Given the description of an element on the screen output the (x, y) to click on. 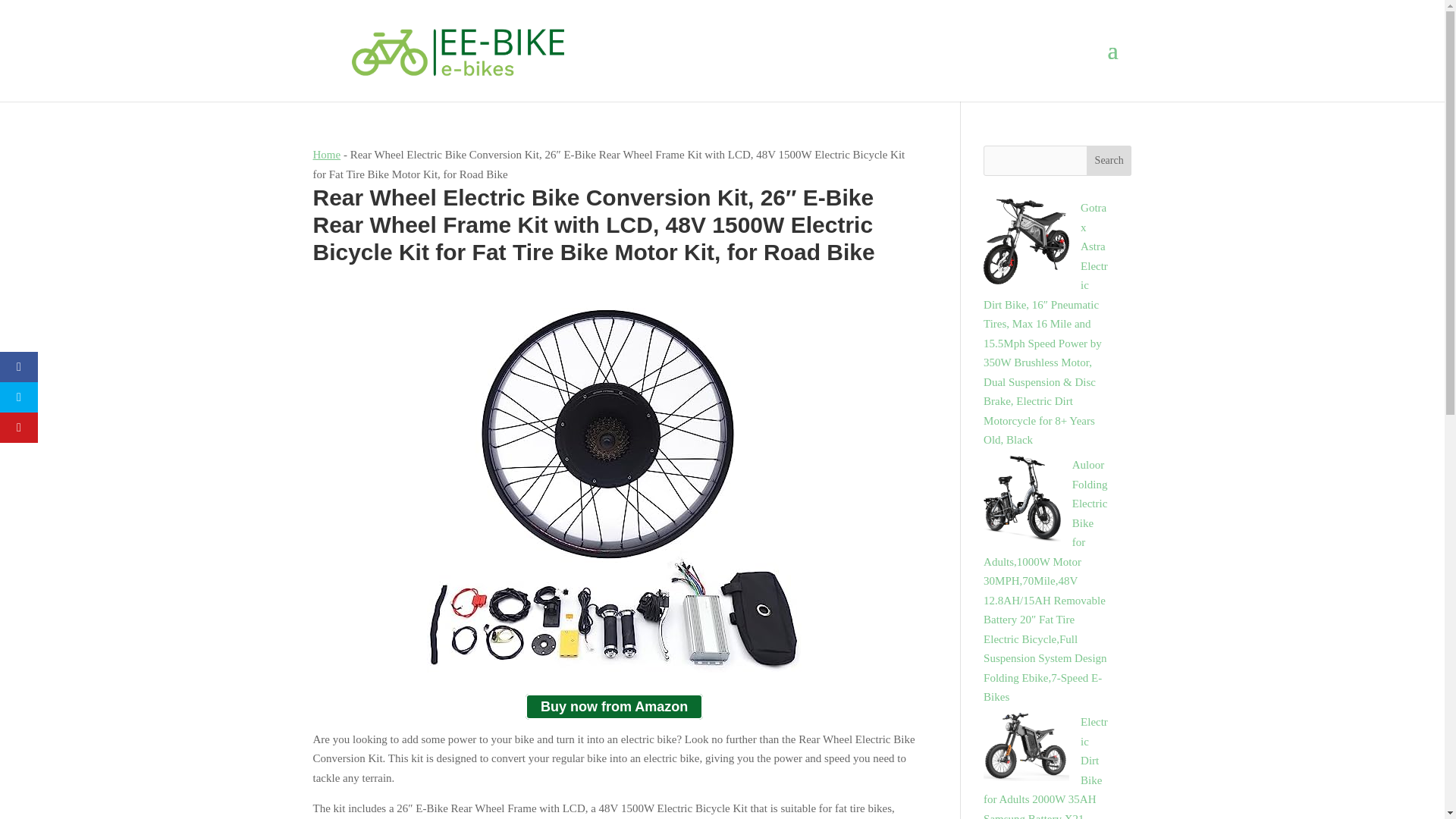
Search (1109, 160)
Buy now from Amazon (614, 706)
Home (326, 154)
